Given the description of an element on the screen output the (x, y) to click on. 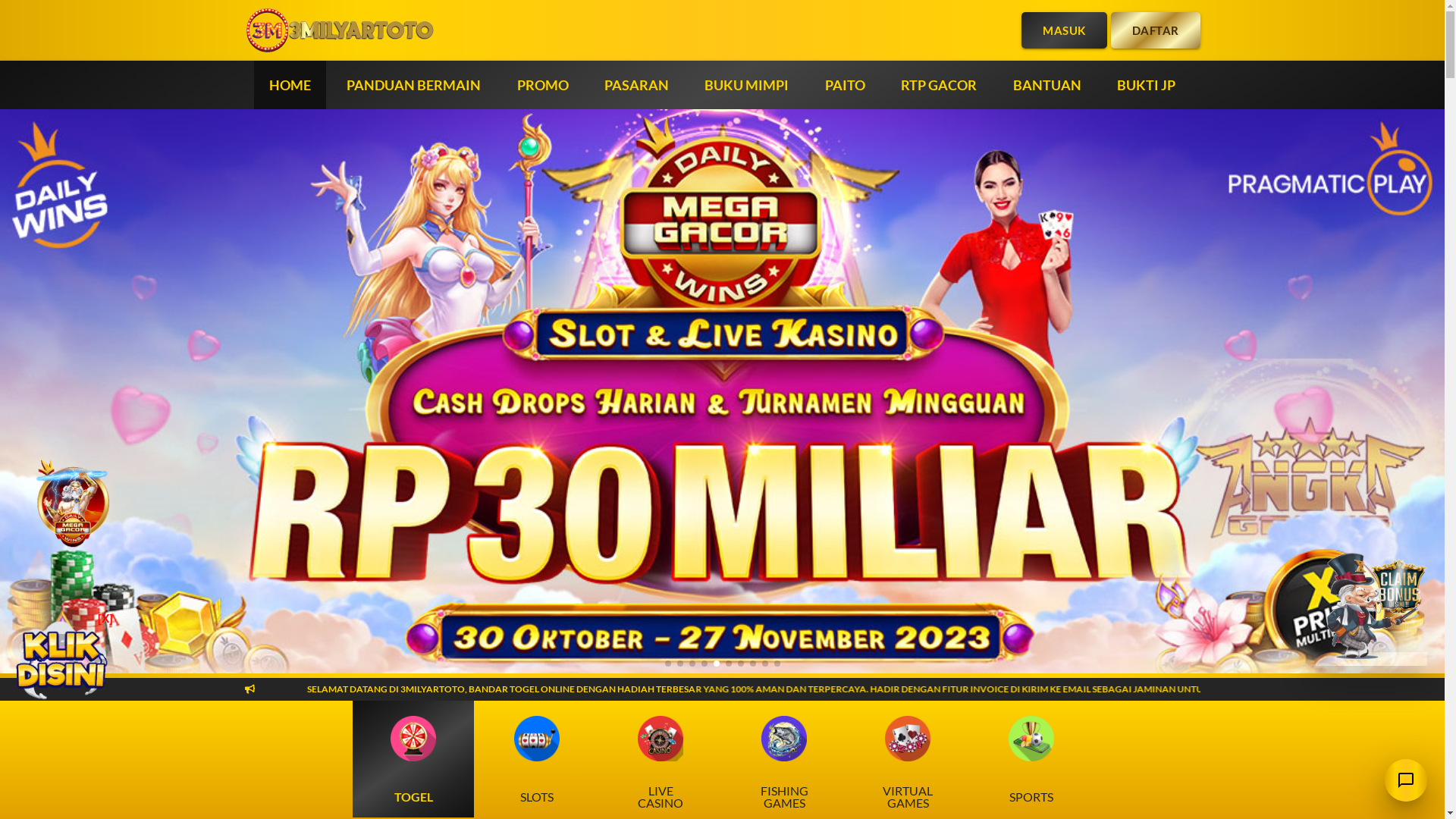
VIRTUAL
GAMES Element type: text (907, 758)
PASARAN Element type: text (636, 84)
PANDUAN BERMAIN Element type: text (413, 84)
RTP GACOR Element type: text (938, 84)
BUKTI JP Element type: text (1145, 84)
LIVE
CASINO Element type: text (660, 758)
MASUK Element type: text (1064, 30)
SPORTS Element type: text (1031, 758)
BUKU MIMPI Element type: text (746, 84)
FISHING
GAMES Element type: text (783, 758)
BANTUAN Element type: text (1046, 84)
PAITO Element type: text (844, 84)
PROMO Element type: text (542, 84)
SLOTS Element type: text (536, 758)
HOME Element type: text (289, 84)
chat_bubble_outline Element type: text (1405, 780)
DAFTAR Element type: text (1154, 30)
TOGEL Element type: text (412, 758)
